Given the description of an element on the screen output the (x, y) to click on. 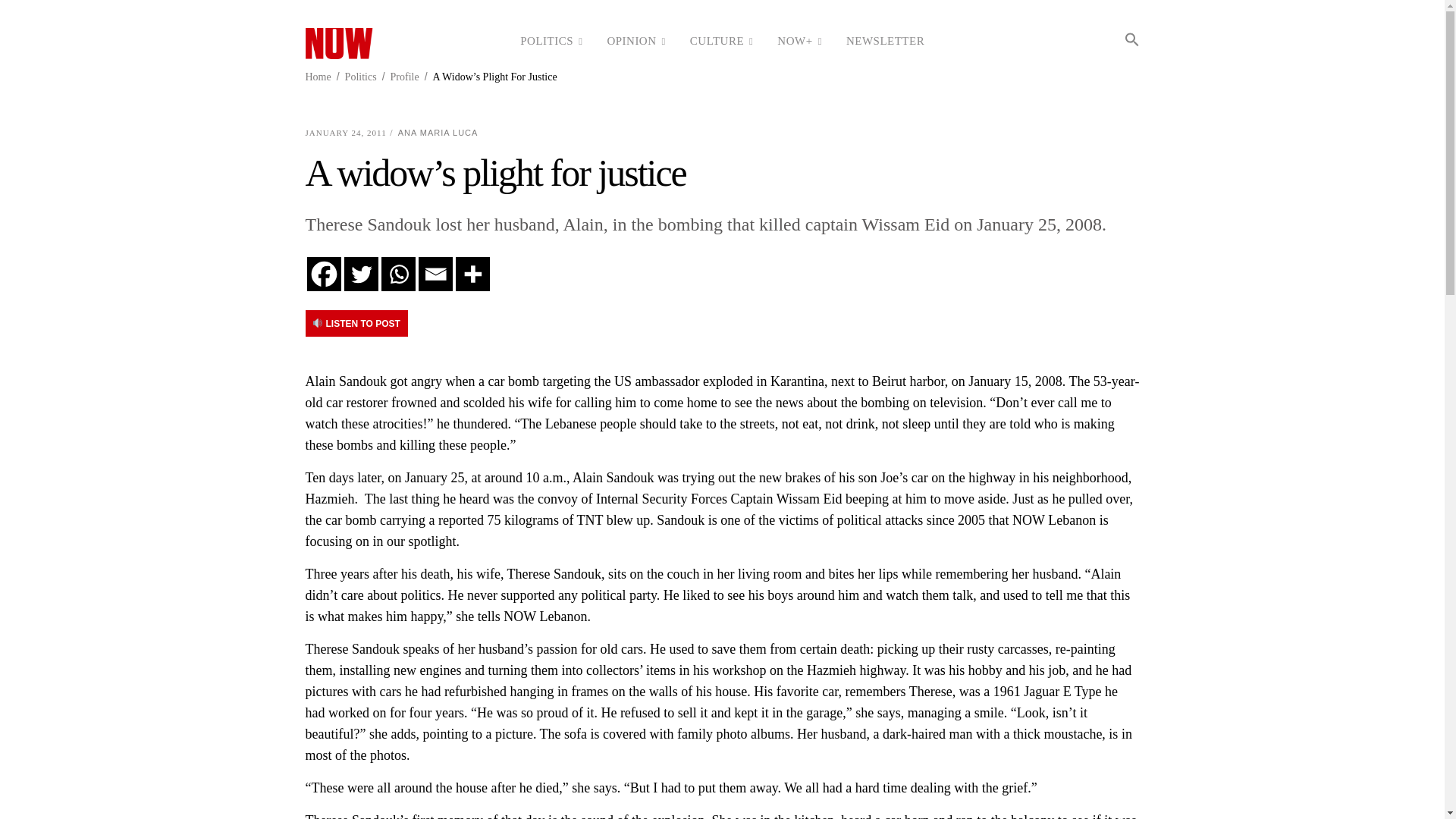
Email (435, 274)
POLITICS (551, 40)
Whatsapp (397, 274)
Facebook (322, 274)
CULTURE (721, 40)
Twitter (360, 274)
OPINION (635, 40)
More (471, 274)
